Given the description of an element on the screen output the (x, y) to click on. 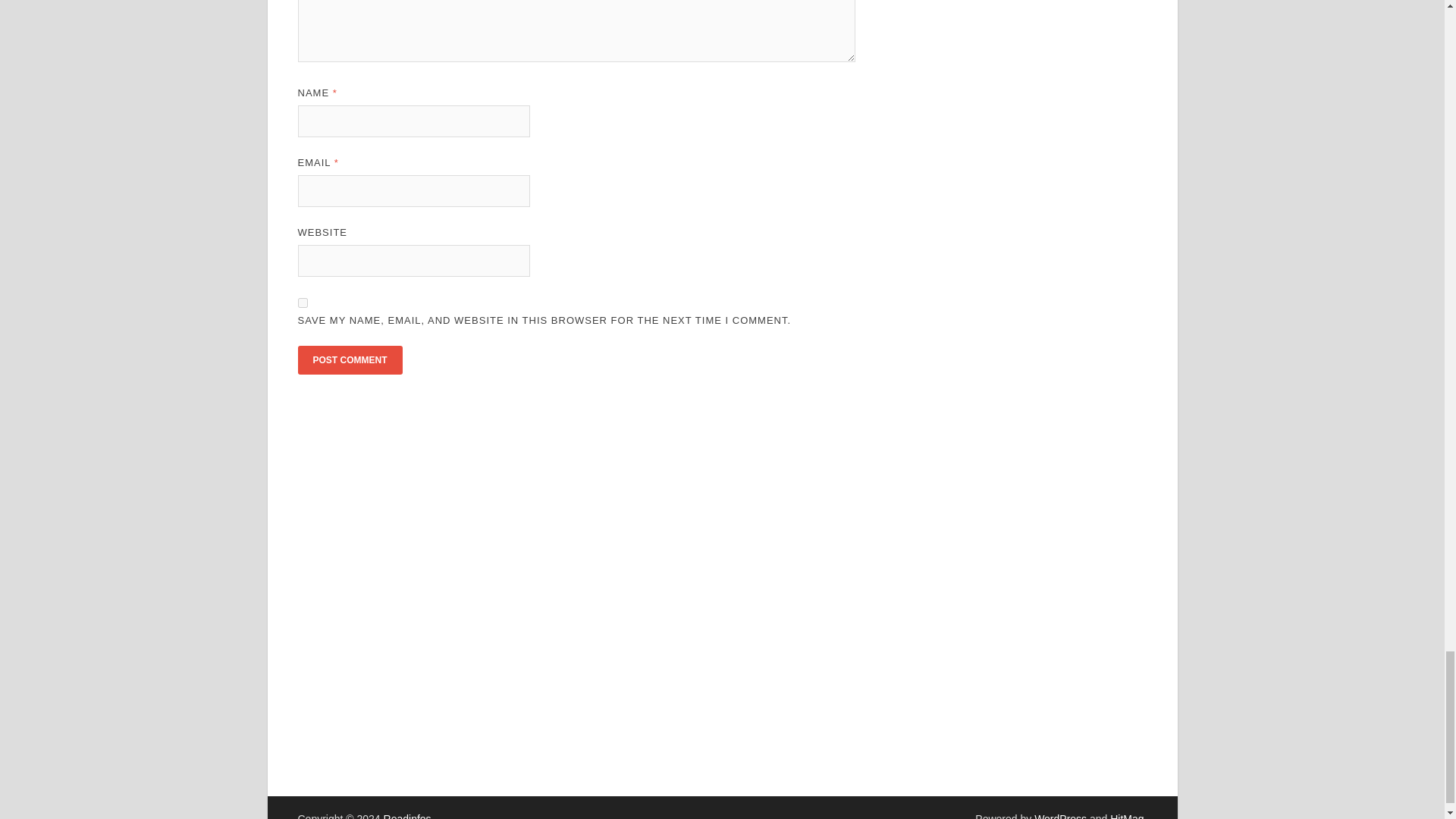
Post Comment (349, 359)
Post Comment (349, 359)
yes (302, 302)
